Given the description of an element on the screen output the (x, y) to click on. 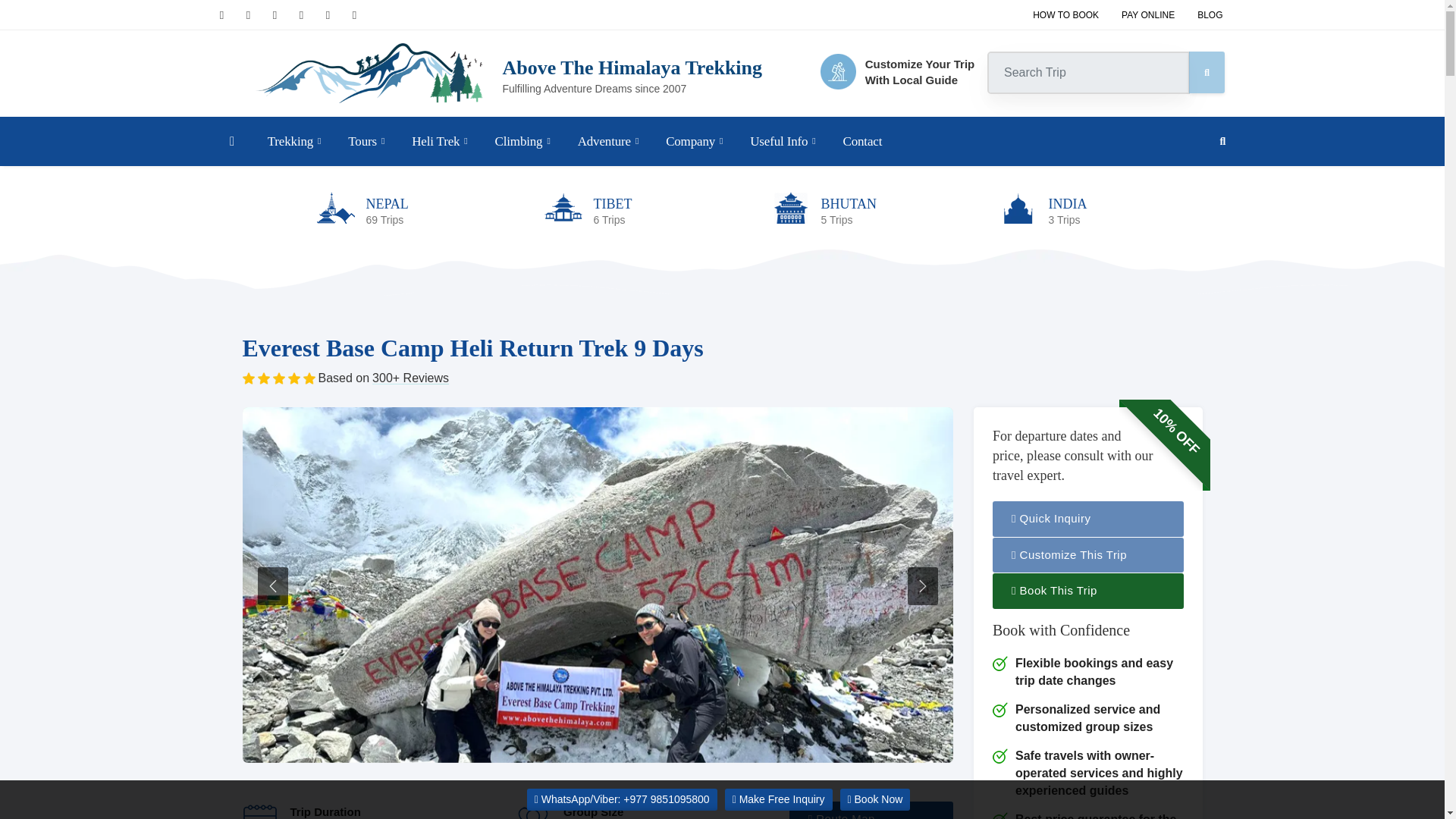
BLOG (1209, 14)
HOW TO BOOK (1065, 14)
Search for: (1088, 72)
Trekking (897, 71)
PAY ONLINE (293, 141)
